Given the description of an element on the screen output the (x, y) to click on. 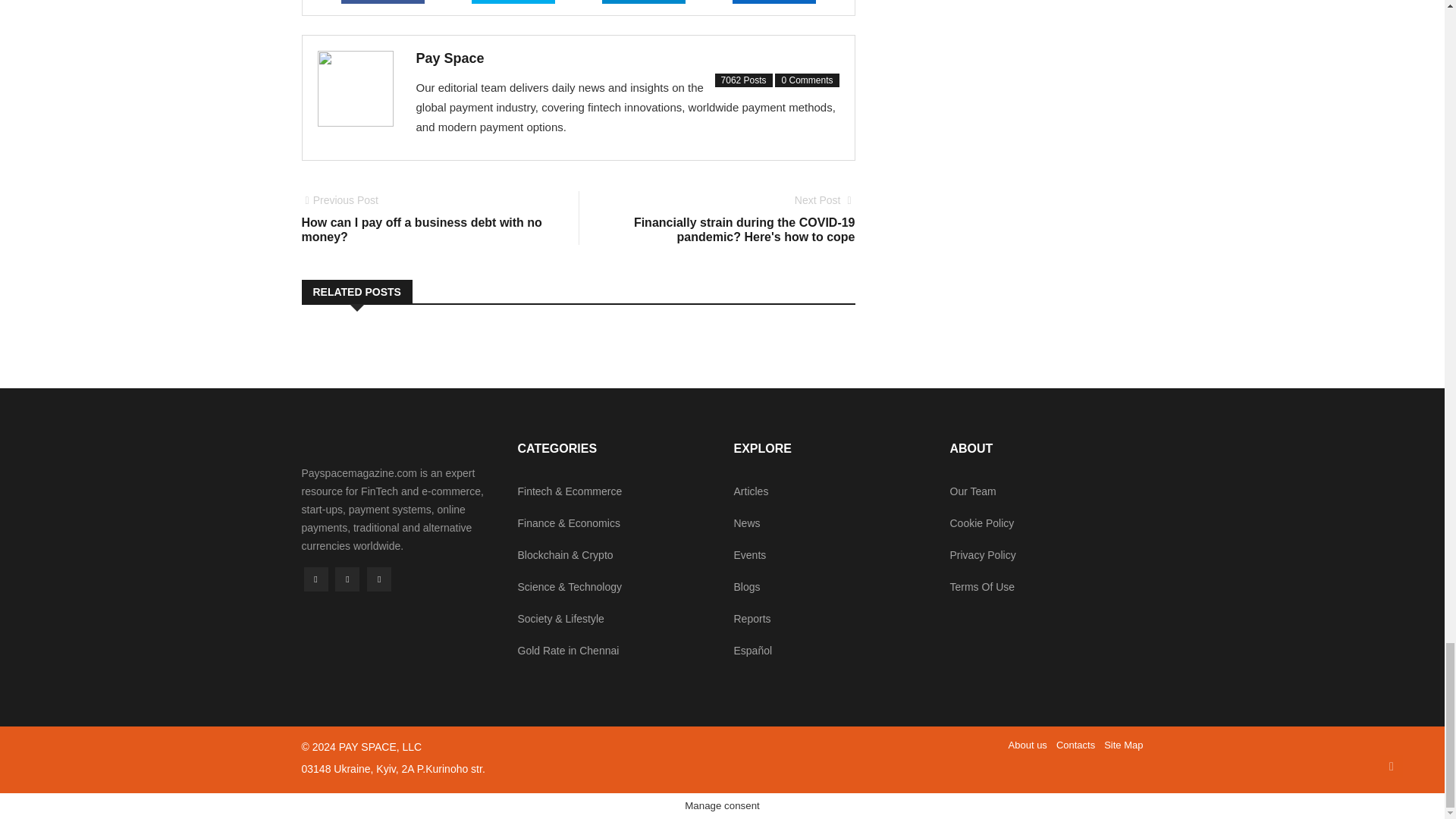
RSS (378, 579)
Facebook (314, 579)
Twitter (346, 579)
